Given the description of an element on the screen output the (x, y) to click on. 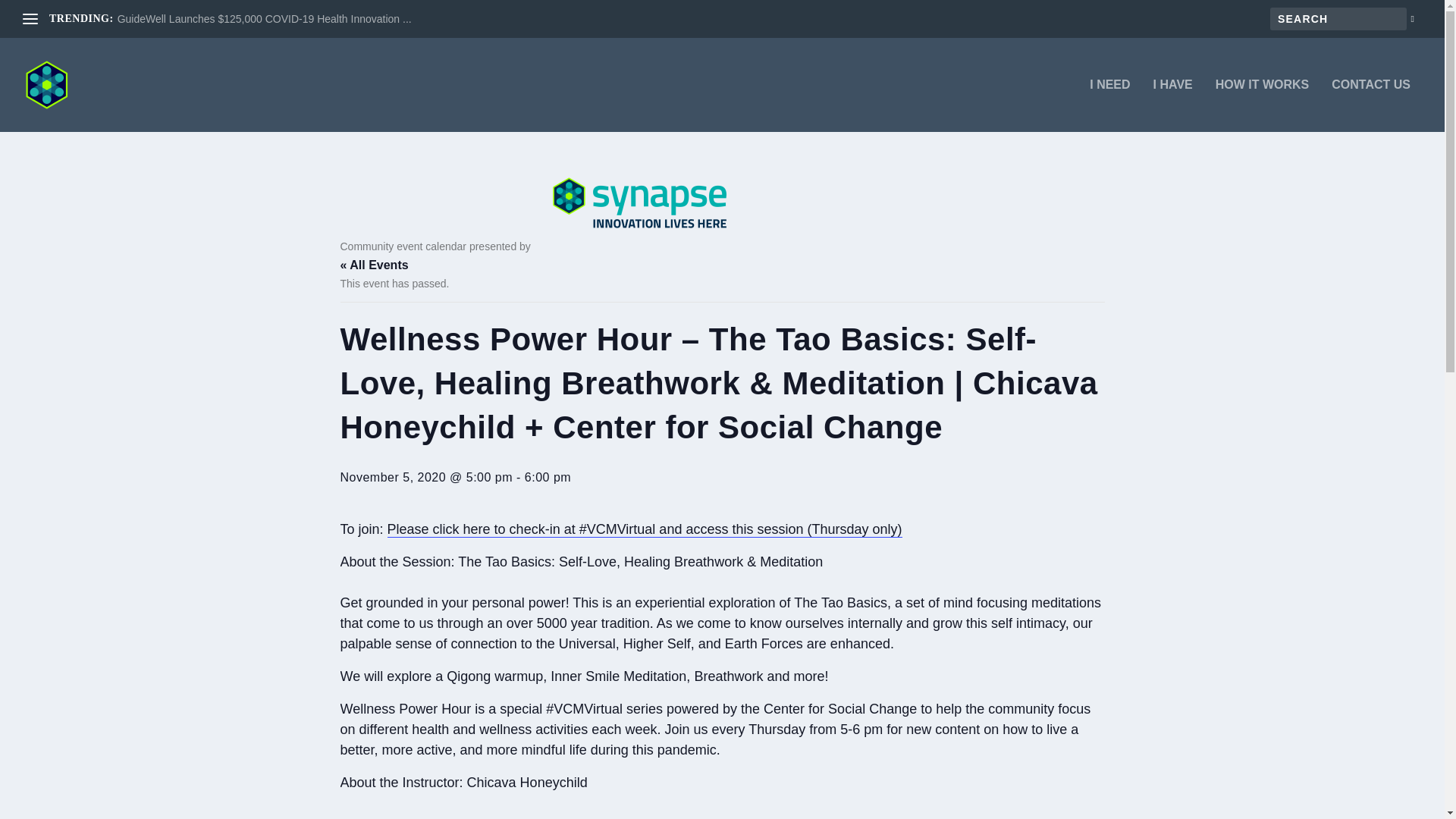
CONTACT US (1371, 104)
HOW IT WORKS (1261, 104)
I HAVE (1172, 104)
Search for: (1337, 18)
I NEED (1109, 104)
